Given the description of an element on the screen output the (x, y) to click on. 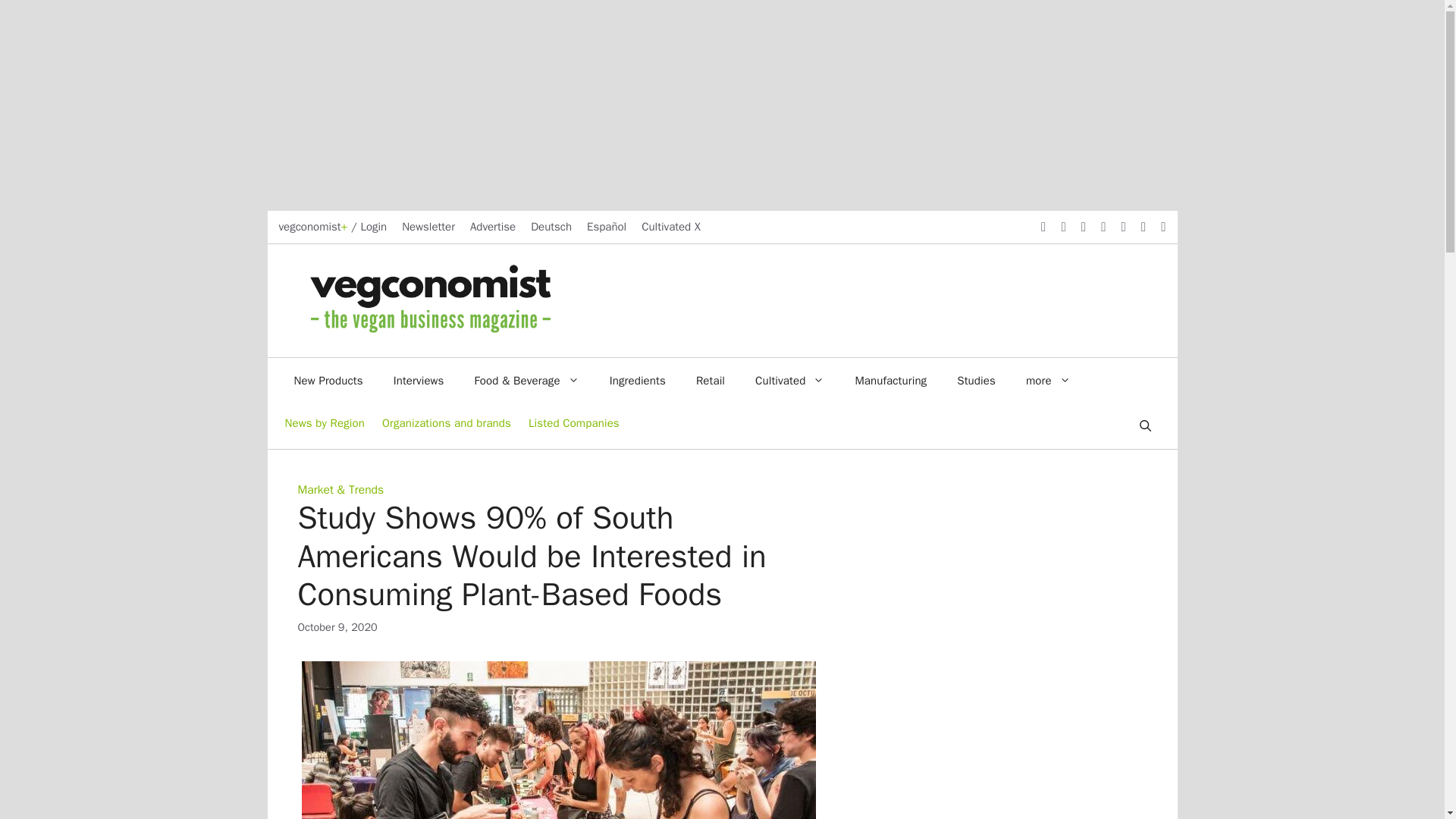
Cultivated X (671, 226)
Cultivated (789, 380)
Retail (710, 380)
New Products (328, 380)
Advertise (492, 226)
more (1048, 380)
Newsletter (427, 226)
Manufacturing (891, 380)
Deutsch (551, 226)
Studies (976, 380)
Ingredients (637, 380)
Interviews (419, 380)
